Given the description of an element on the screen output the (x, y) to click on. 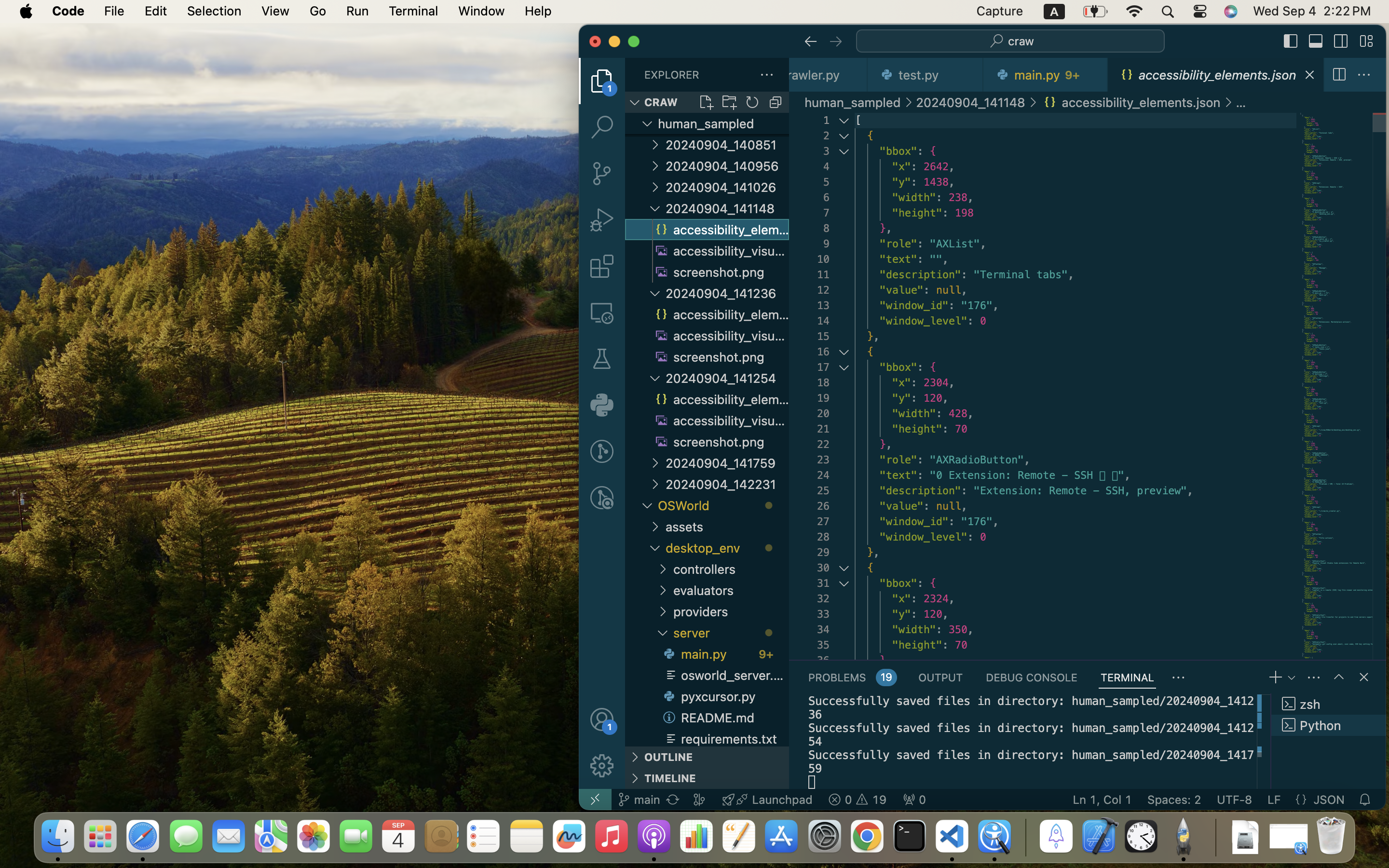
 Element type: AXStaticText (654, 165)
20240904_142231 Element type: AXGroup (727, 483)
20240904_141759 Element type: AXGroup (727, 462)
0  Element type: AXRadioButton (601, 266)
OUTLINE  Element type: AXButton (707, 756)
